Given the description of an element on the screen output the (x, y) to click on. 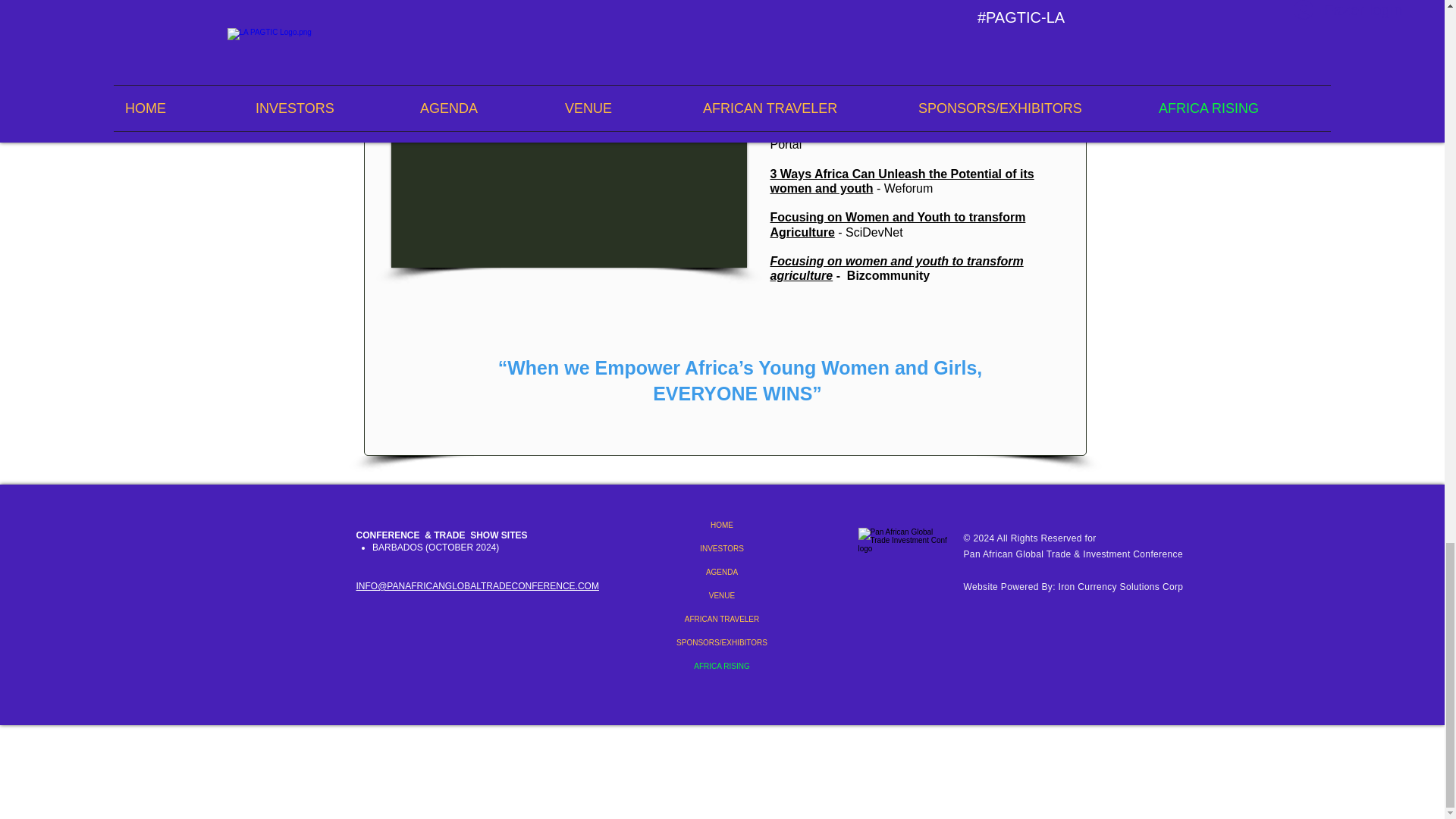
Winning in Africa's agricultural market  (882, 86)
Focusing on women and youth to transform agriculture (896, 267)
HOME (722, 525)
Africa: The Food Basket of the World (878, 129)
Focusing on Women and Youth to transform Agriculture (898, 224)
